Given the description of an element on the screen output the (x, y) to click on. 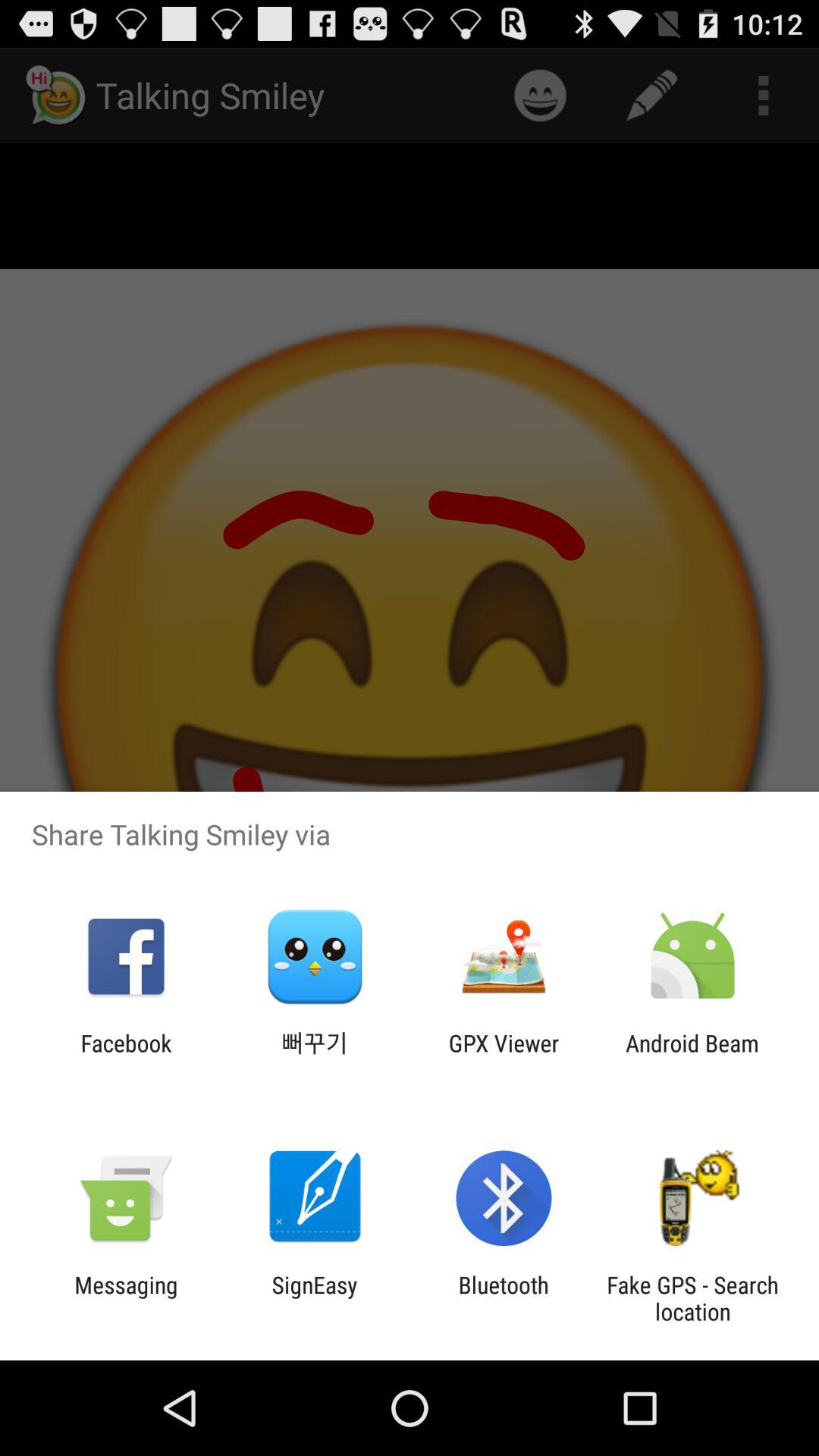
click android beam icon (692, 1056)
